Given the description of an element on the screen output the (x, y) to click on. 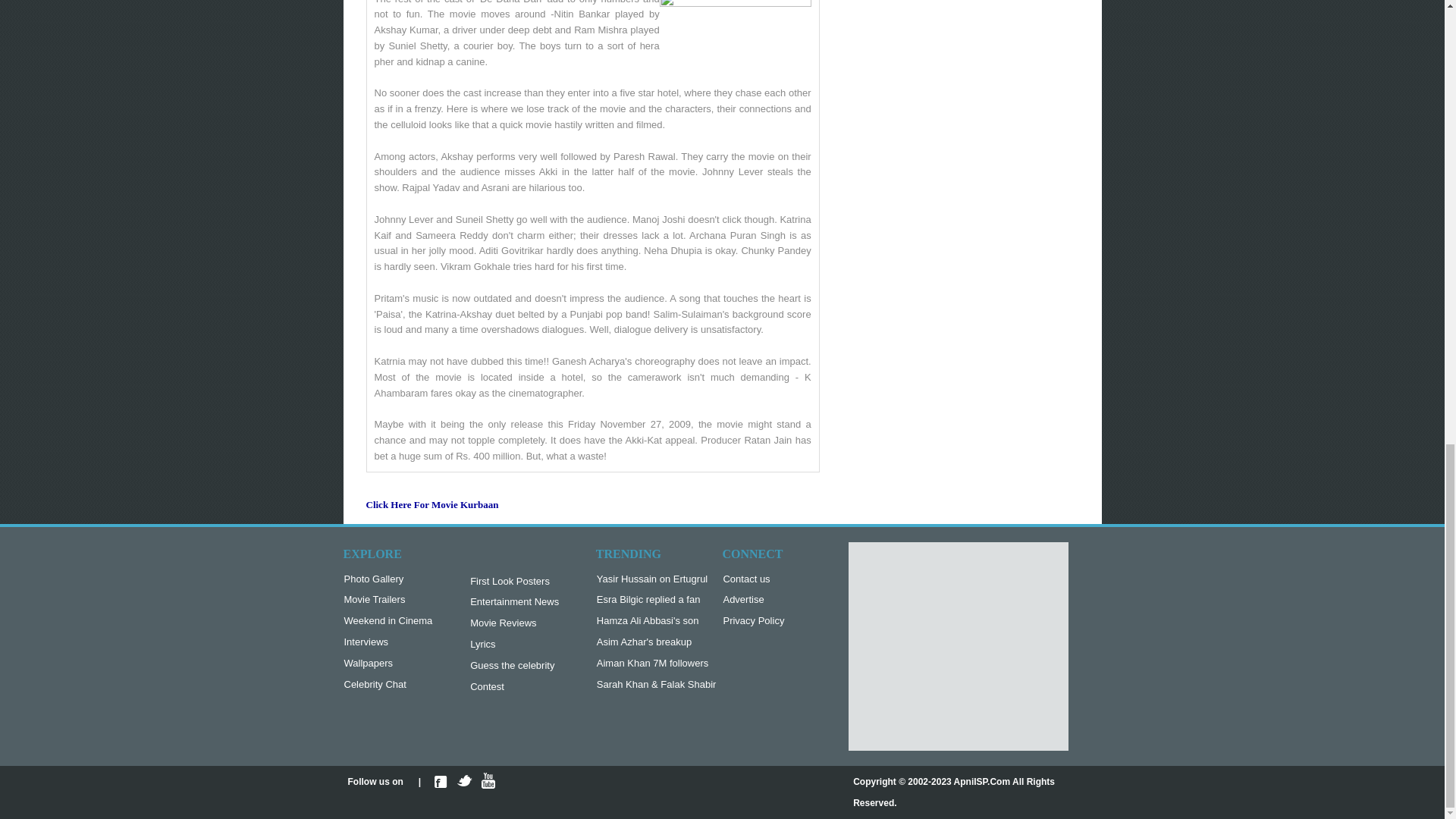
Movie Reviews (514, 623)
Interviews (387, 642)
Movie Trailers (387, 600)
Lyrics (514, 644)
First Look Posters (514, 581)
Wallpapers (387, 663)
Click Here For Movie Kurbaan (431, 510)
Entertainment News (514, 602)
Photo Gallery (387, 579)
Celebrity Chat (387, 684)
Weekend in Cinema (387, 621)
